Given the description of an element on the screen output the (x, y) to click on. 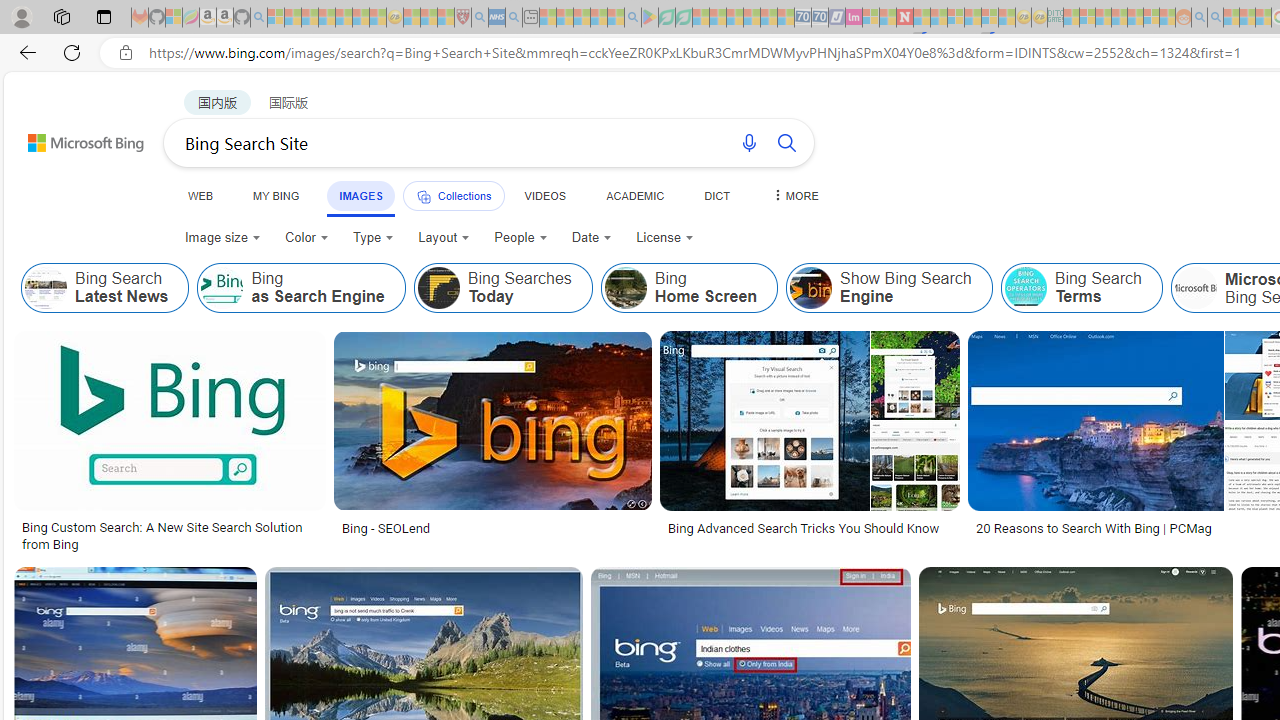
Date (591, 237)
Layout (443, 237)
Color (305, 237)
Bing as Search Engine (222, 287)
MY BING (276, 195)
